Given the description of an element on the screen output the (x, y) to click on. 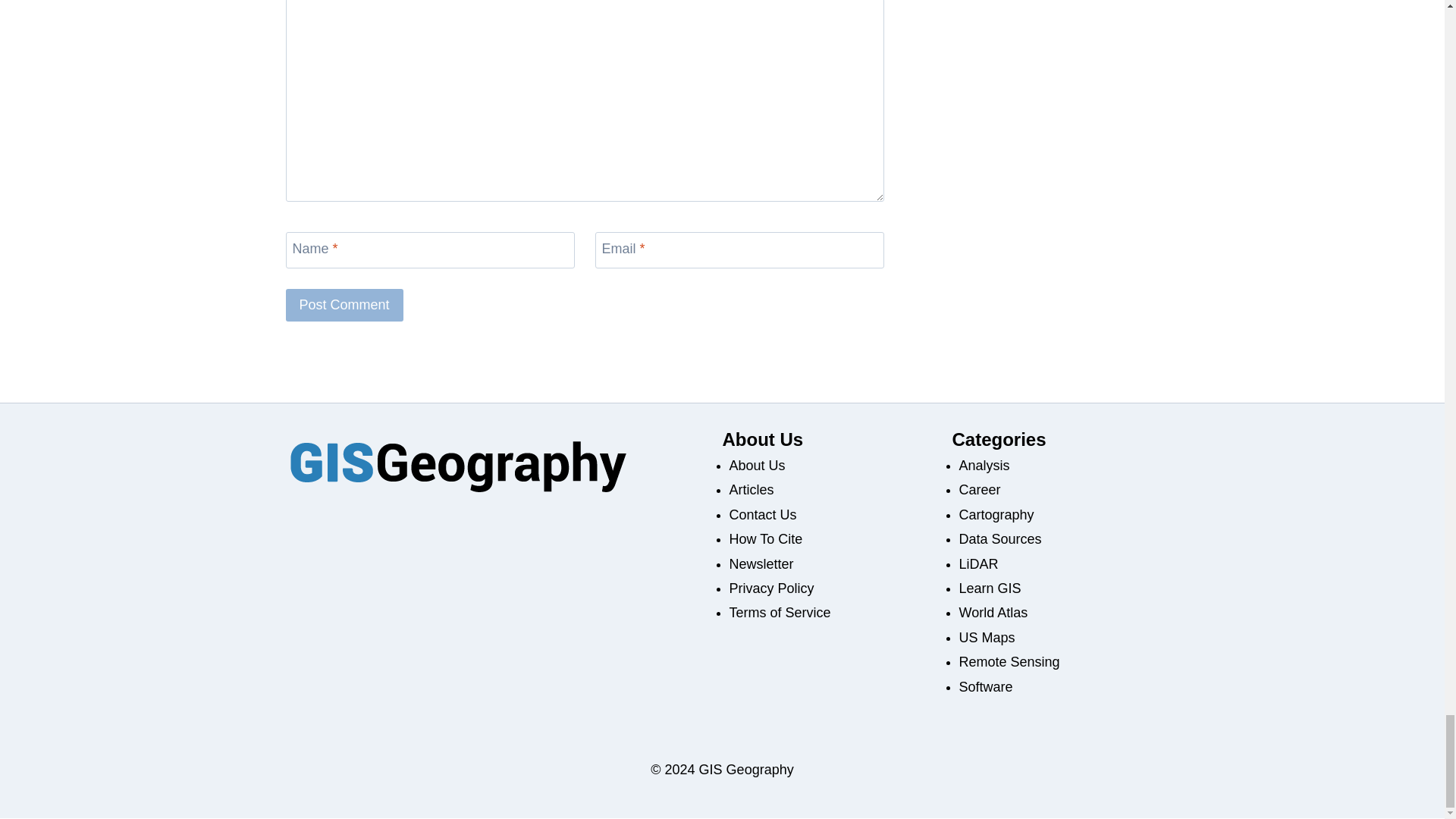
Post Comment (344, 305)
